Given the description of an element on the screen output the (x, y) to click on. 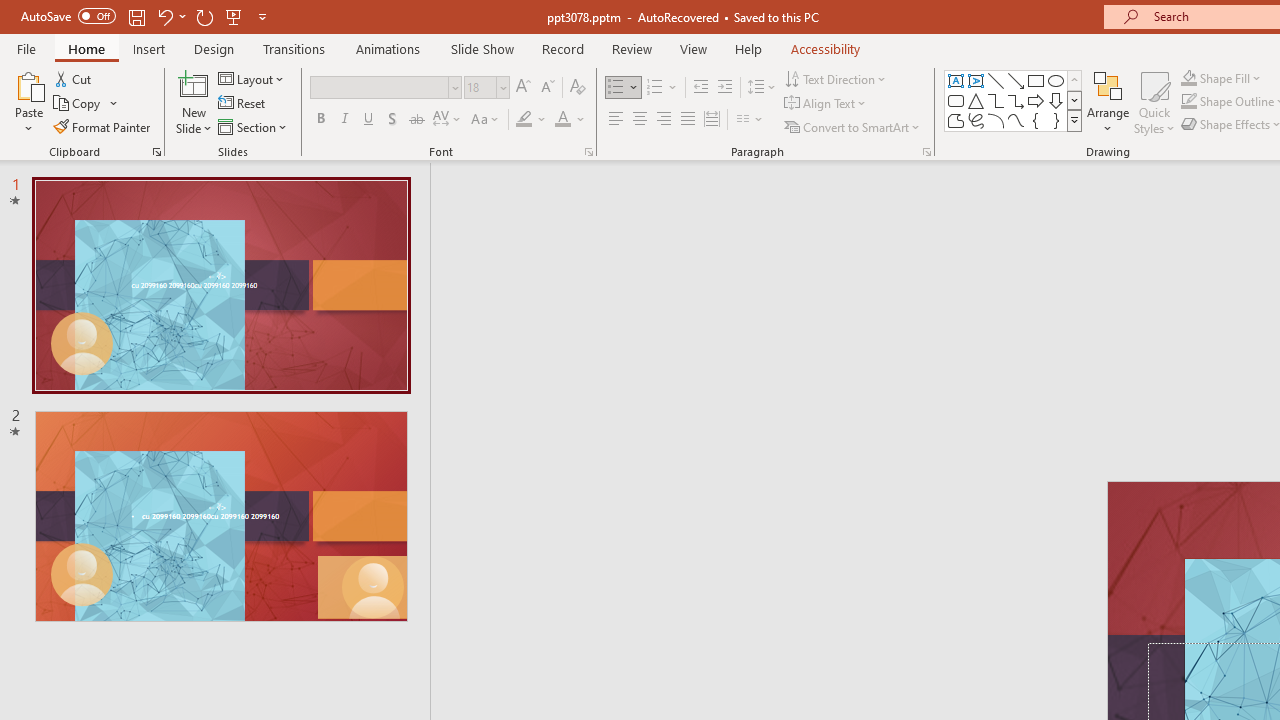
Increase Indent (725, 87)
Align Text (826, 103)
Rectangle: Rounded Corners (955, 100)
Line Spacing (762, 87)
Italic (344, 119)
Text Direction (836, 78)
Decrease Font Size (547, 87)
Connector: Elbow (995, 100)
